Given the description of an element on the screen output the (x, y) to click on. 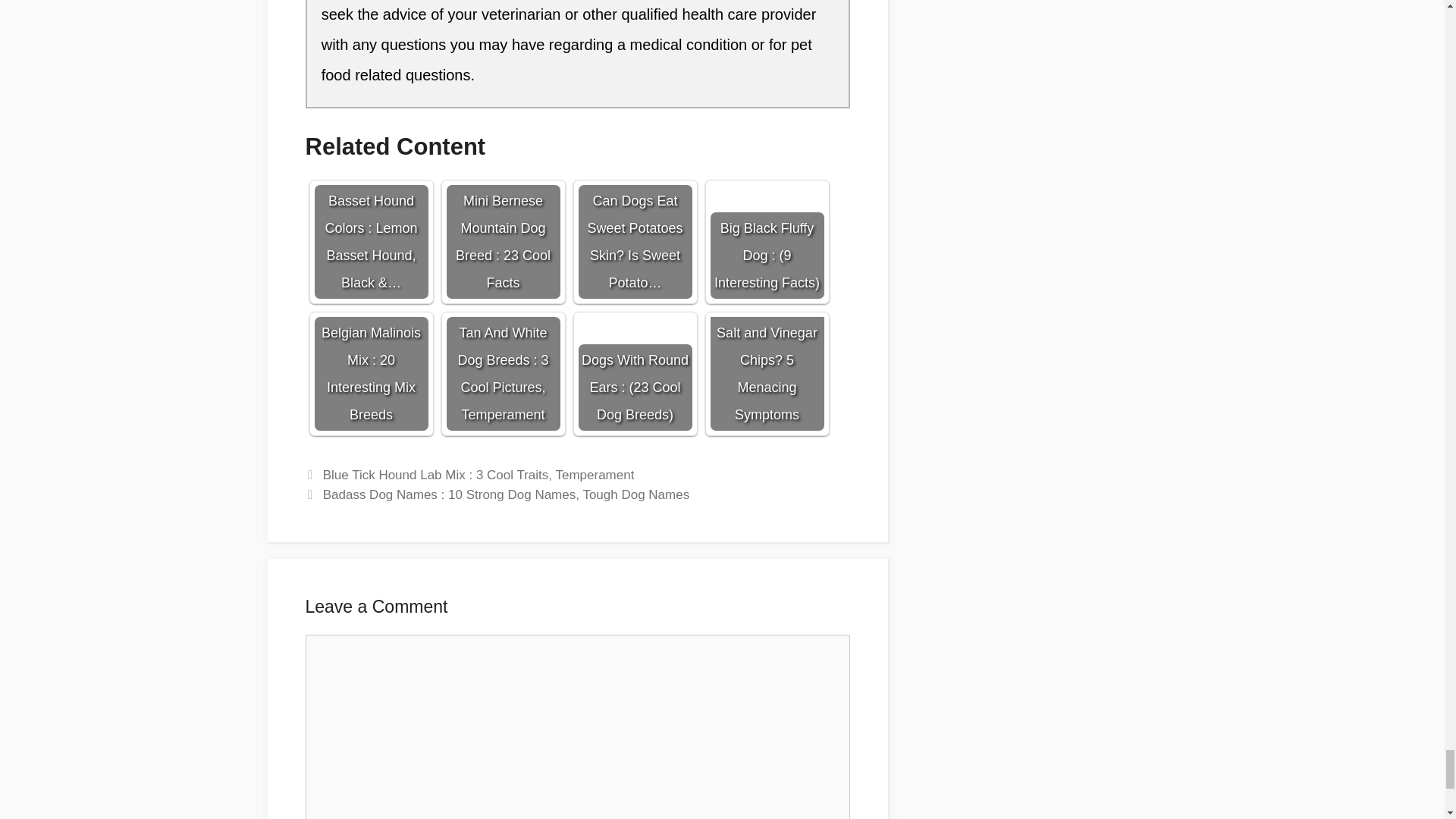
Mini Bernese Mountain Dog Breed : 23 Cool Facts (502, 223)
